Given the description of an element on the screen output the (x, y) to click on. 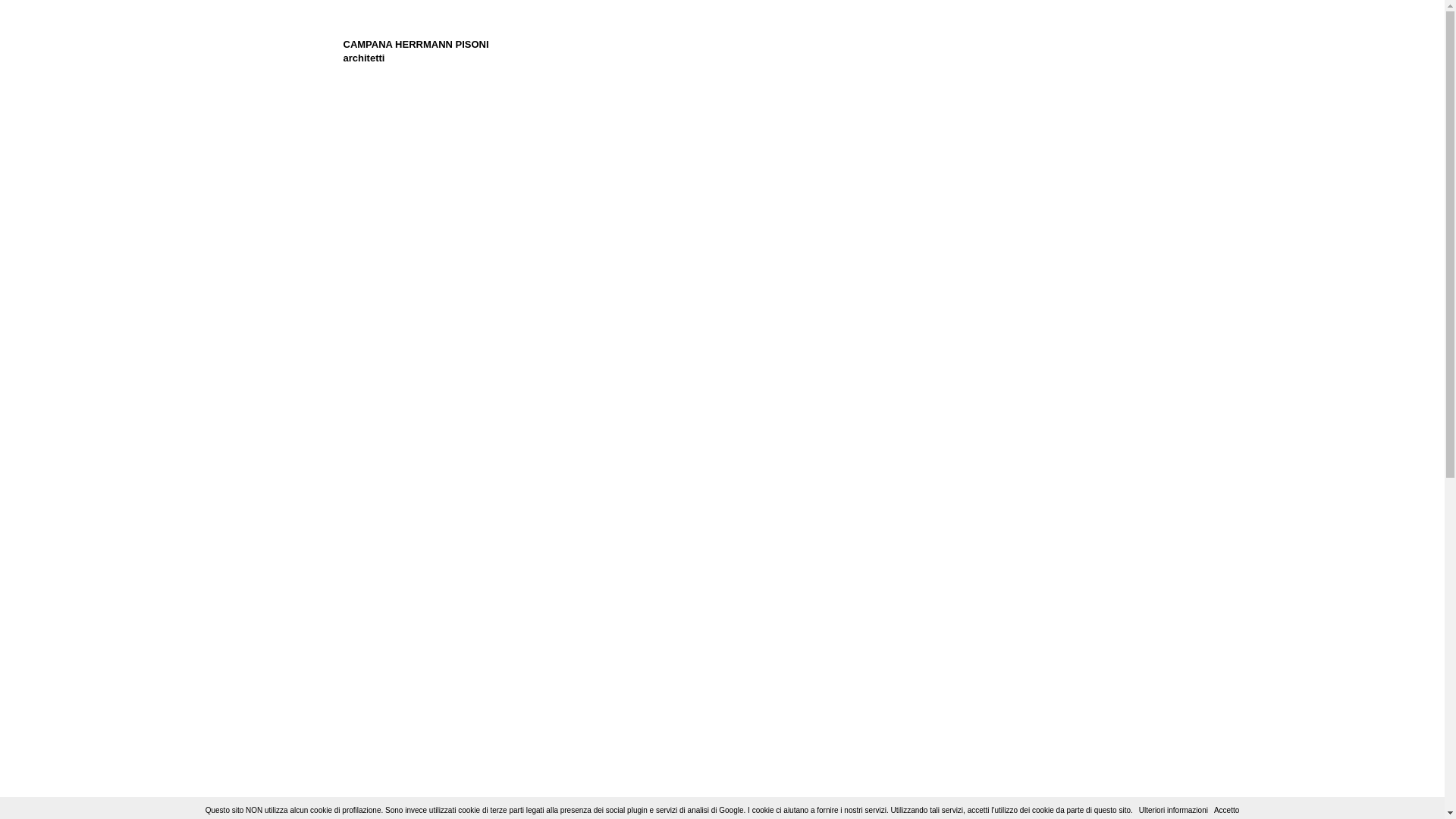
Ulteriori informazioni Element type: text (1173, 810)
CAMPANA HERRMANN PISONI
architetti Element type: text (415, 50)
Accetto Element type: text (1226, 810)
